Given the description of an element on the screen output the (x, y) to click on. 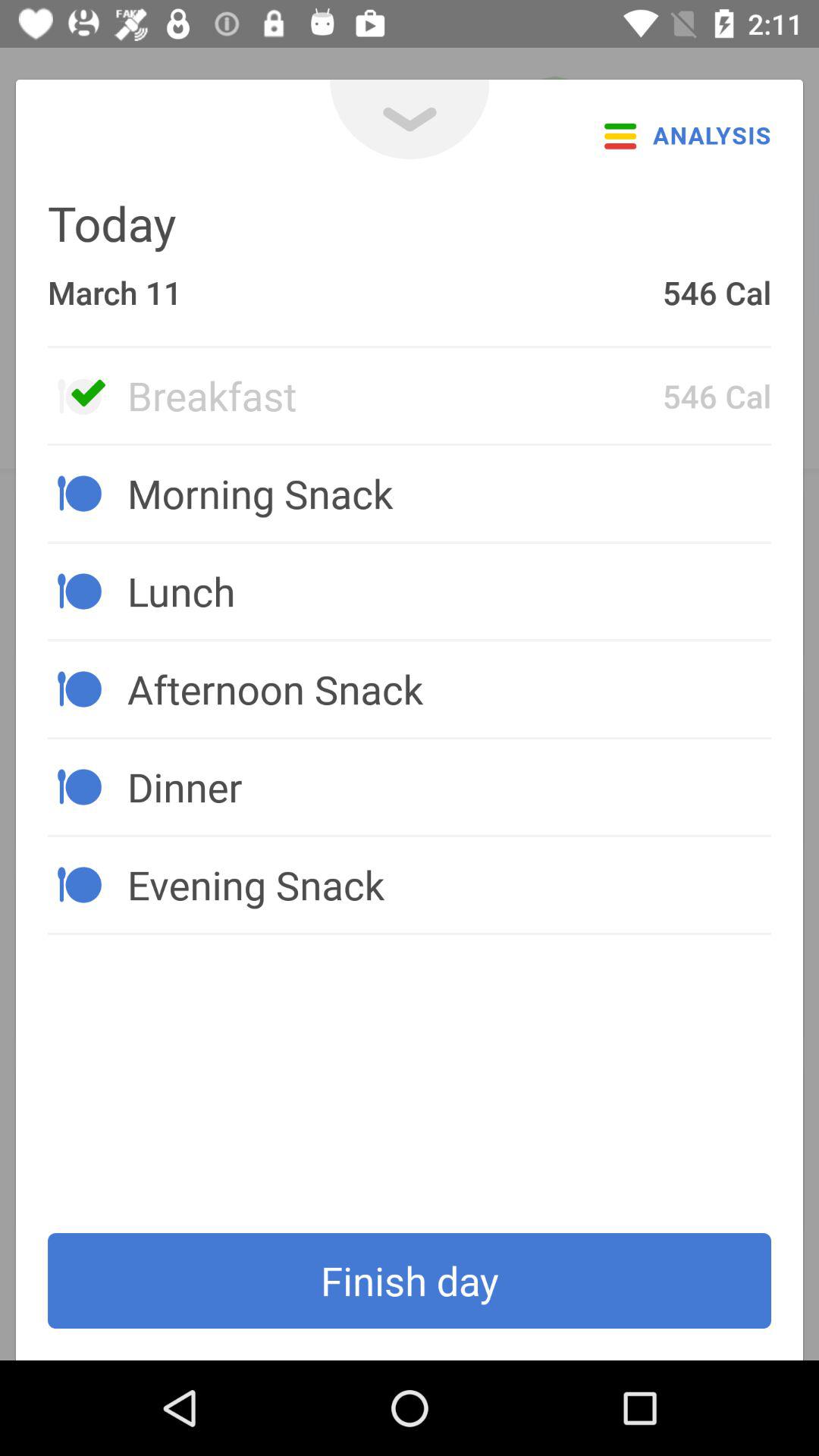
swipe to the afternoon snack icon (449, 688)
